Given the description of an element on the screen output the (x, y) to click on. 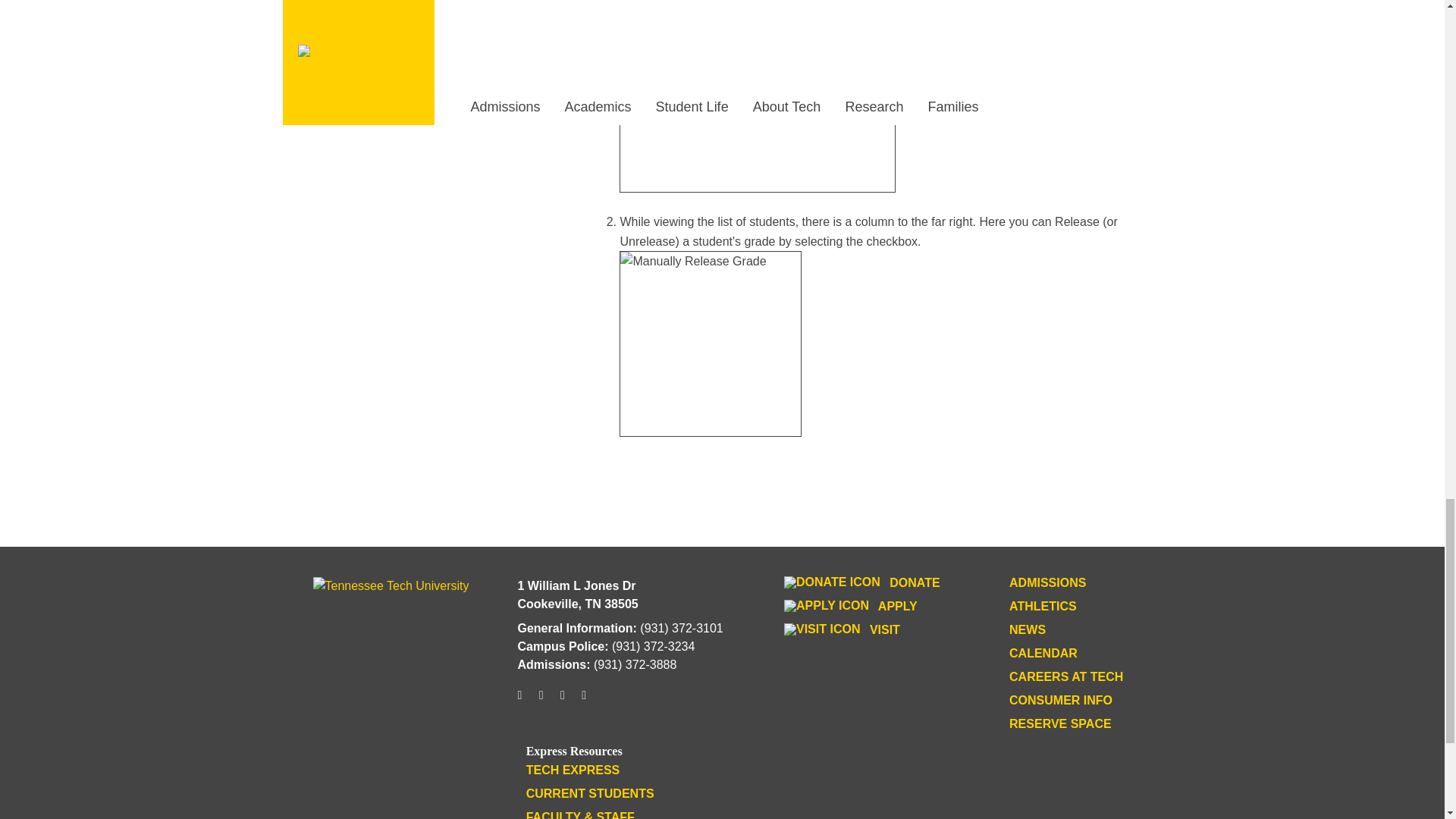
Facebook (541, 700)
Email (583, 700)
YouTube (562, 700)
